Given the description of an element on the screen output the (x, y) to click on. 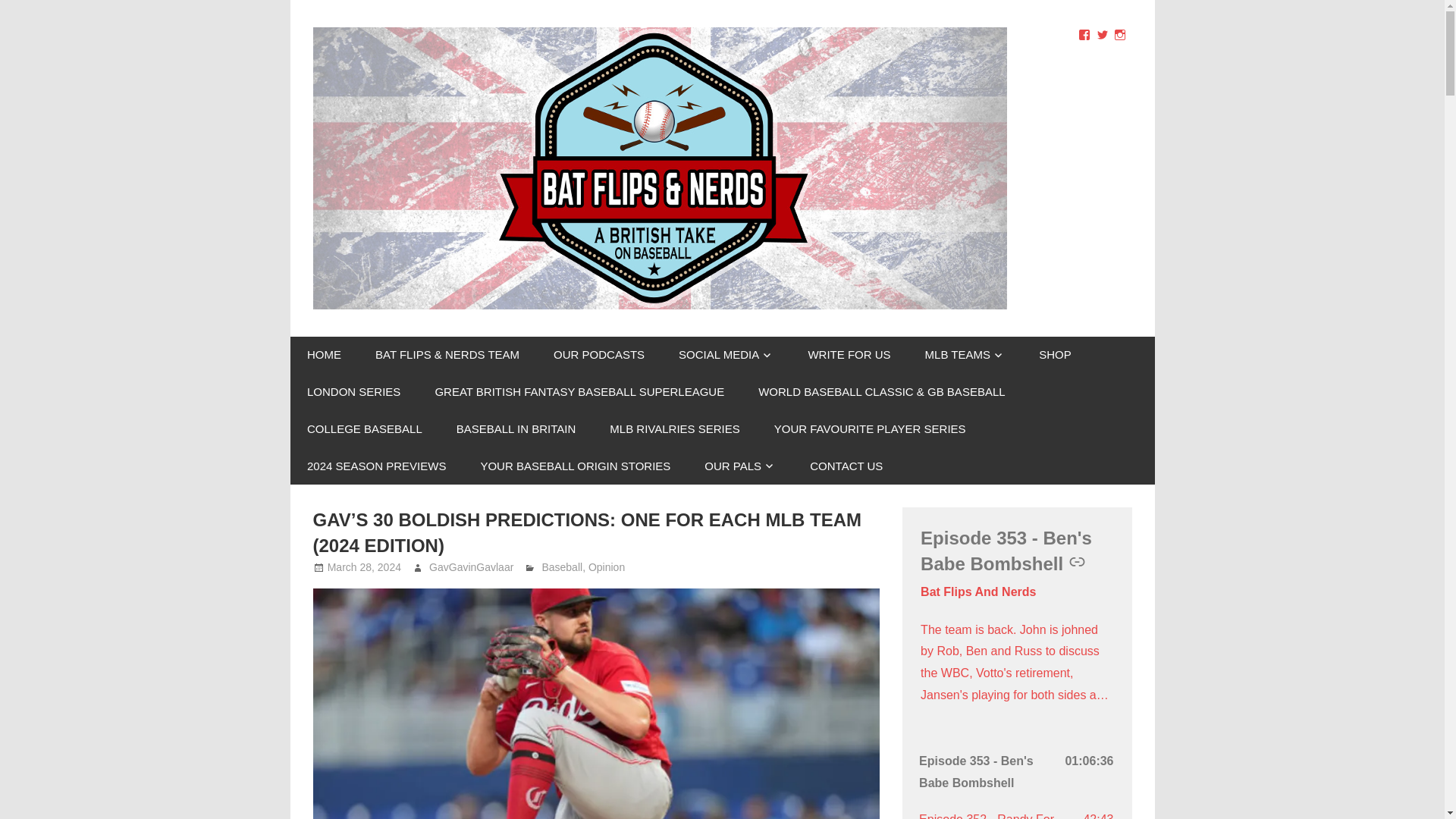
View all posts by GavGavinGavlaar (471, 567)
SOCIAL MEDIA (726, 354)
5:09 pm (364, 567)
HOME (323, 354)
MLB TEAMS (964, 354)
OUR PODCASTS (599, 354)
WRITE FOR US (848, 354)
